Given the description of an element on the screen output the (x, y) to click on. 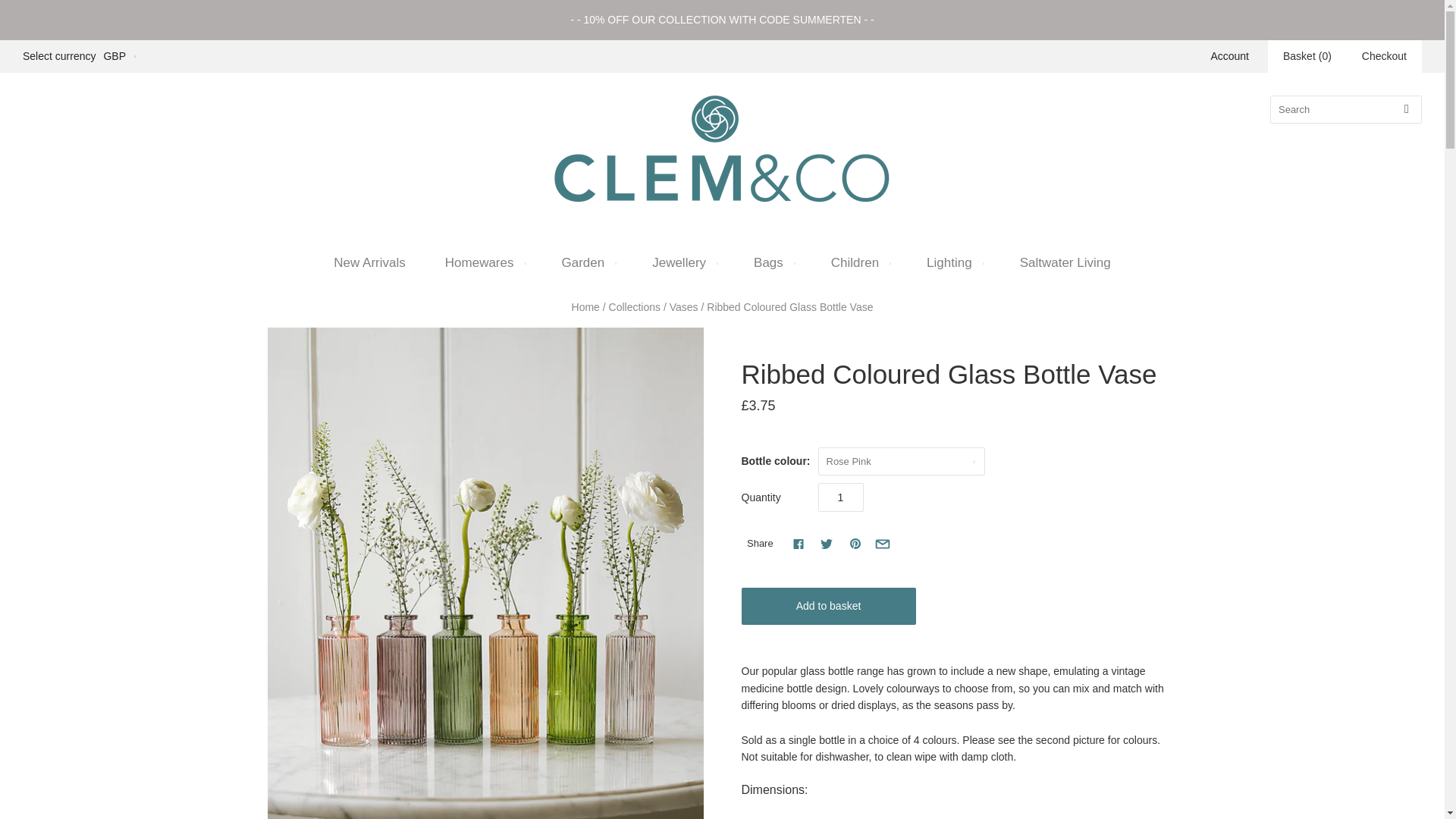
Checkout (1384, 56)
Children (858, 262)
1 (839, 497)
Bags (771, 262)
Jewellery (682, 262)
Add to basket (828, 606)
New Arrivals (369, 262)
Homewares (483, 262)
Garden (586, 262)
Account (1229, 55)
